Given the description of an element on the screen output the (x, y) to click on. 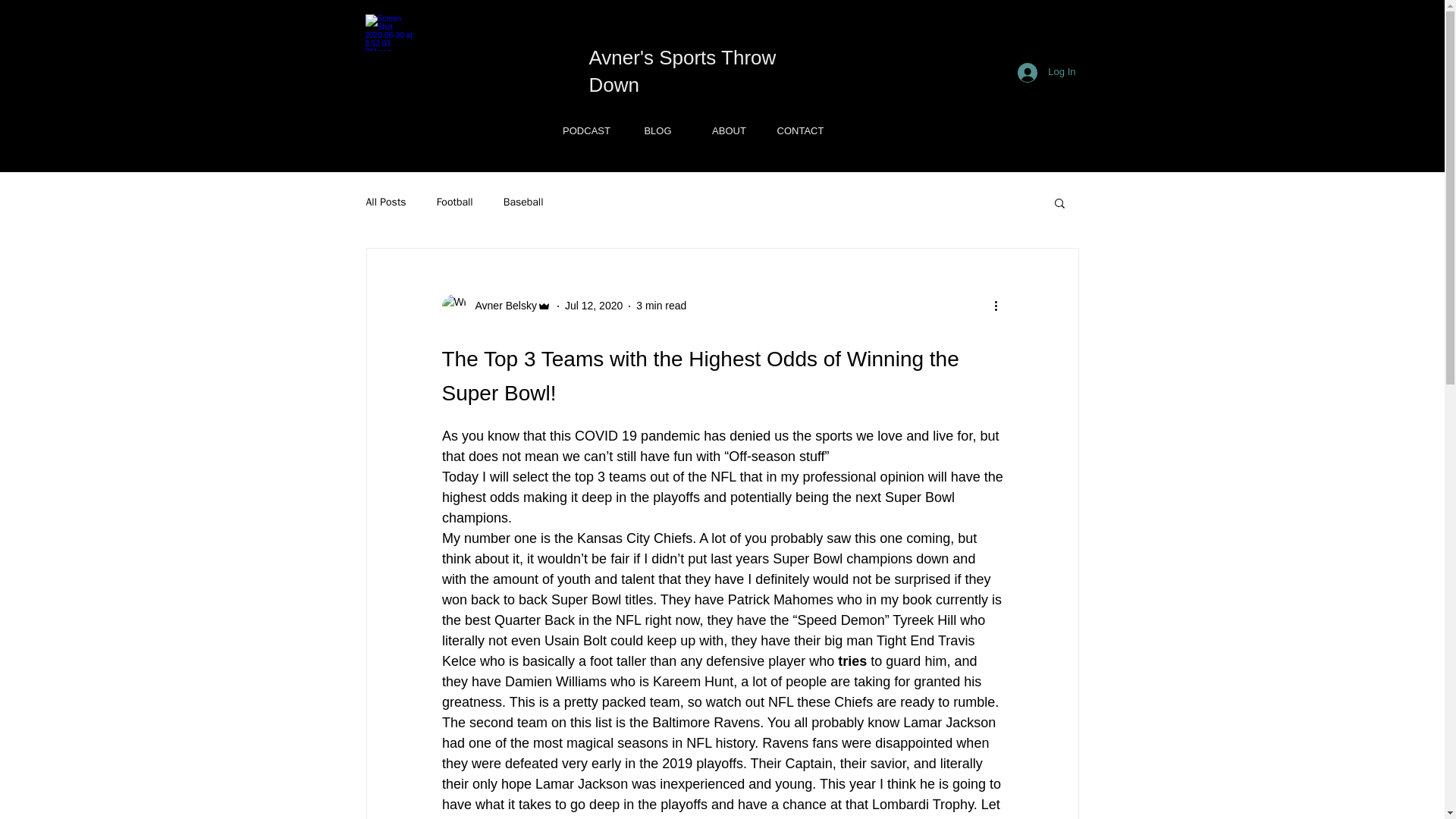
CONTACT (799, 130)
Avner Belsky (495, 306)
Avner's Sports Throw Down (682, 70)
All Posts (385, 202)
Jul 12, 2020 (593, 305)
BLOG (657, 130)
ABOUT (728, 130)
Avner Belsky (500, 305)
Baseball (523, 202)
Log In (1046, 71)
3 min read (660, 305)
PODCAST (585, 130)
Football (454, 202)
